Given the description of an element on the screen output the (x, y) to click on. 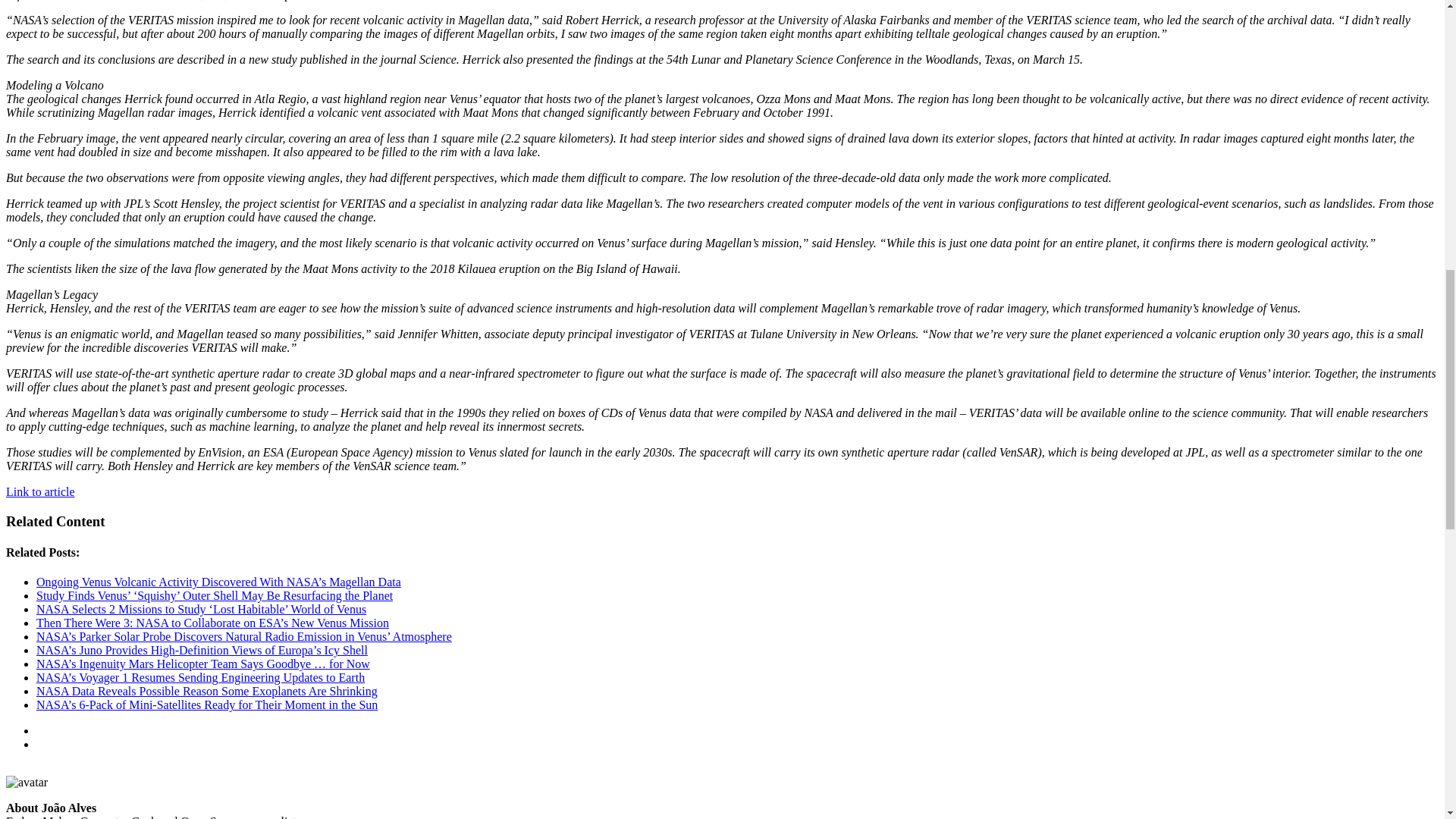
Link to article (40, 491)
